Given the description of an element on the screen output the (x, y) to click on. 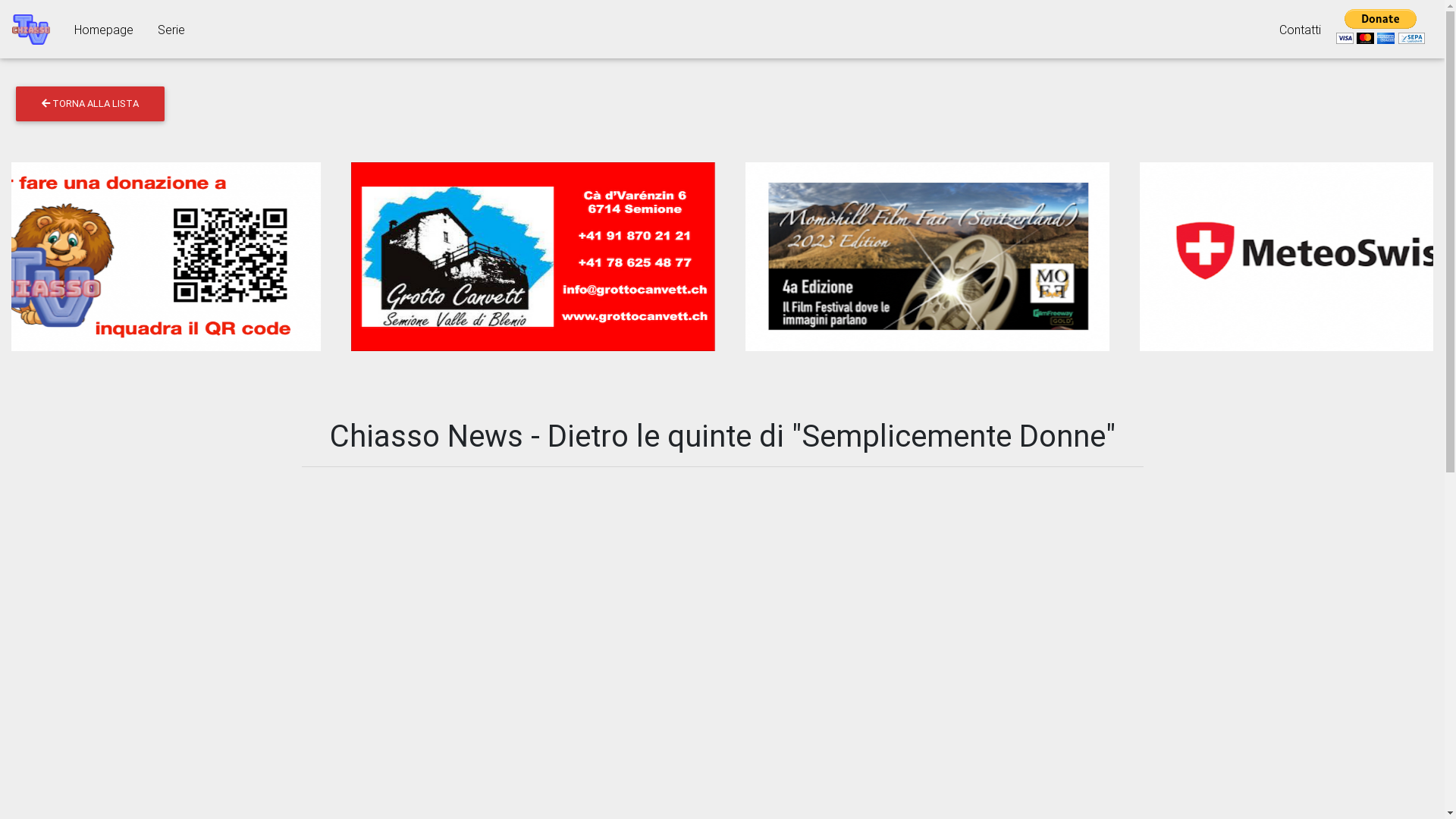
PayPal - The safer, easier way to pay online! Element type: hover (1380, 26)
TORNA ALLA LISTA Element type: text (89, 103)
Homepage Element type: text (103, 28)
Contatti Element type: text (1300, 28)
Serie Element type: text (171, 28)
